Given the description of an element on the screen output the (x, y) to click on. 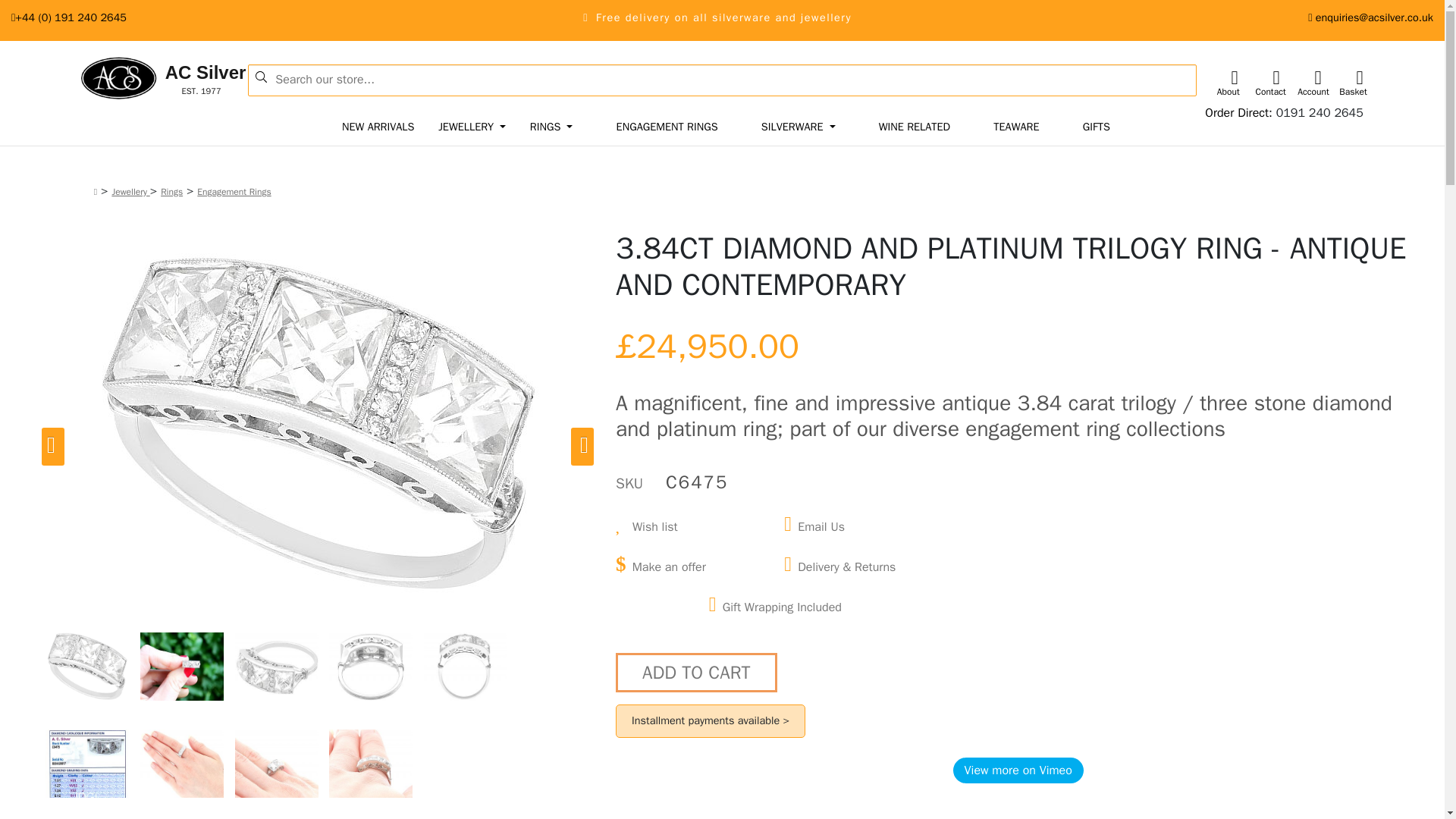
JEWELLERY (472, 126)
NEW ARRIVALS (135, 78)
0191 240 2645 (378, 126)
RINGS (1319, 112)
